Given the description of an element on the screen output the (x, y) to click on. 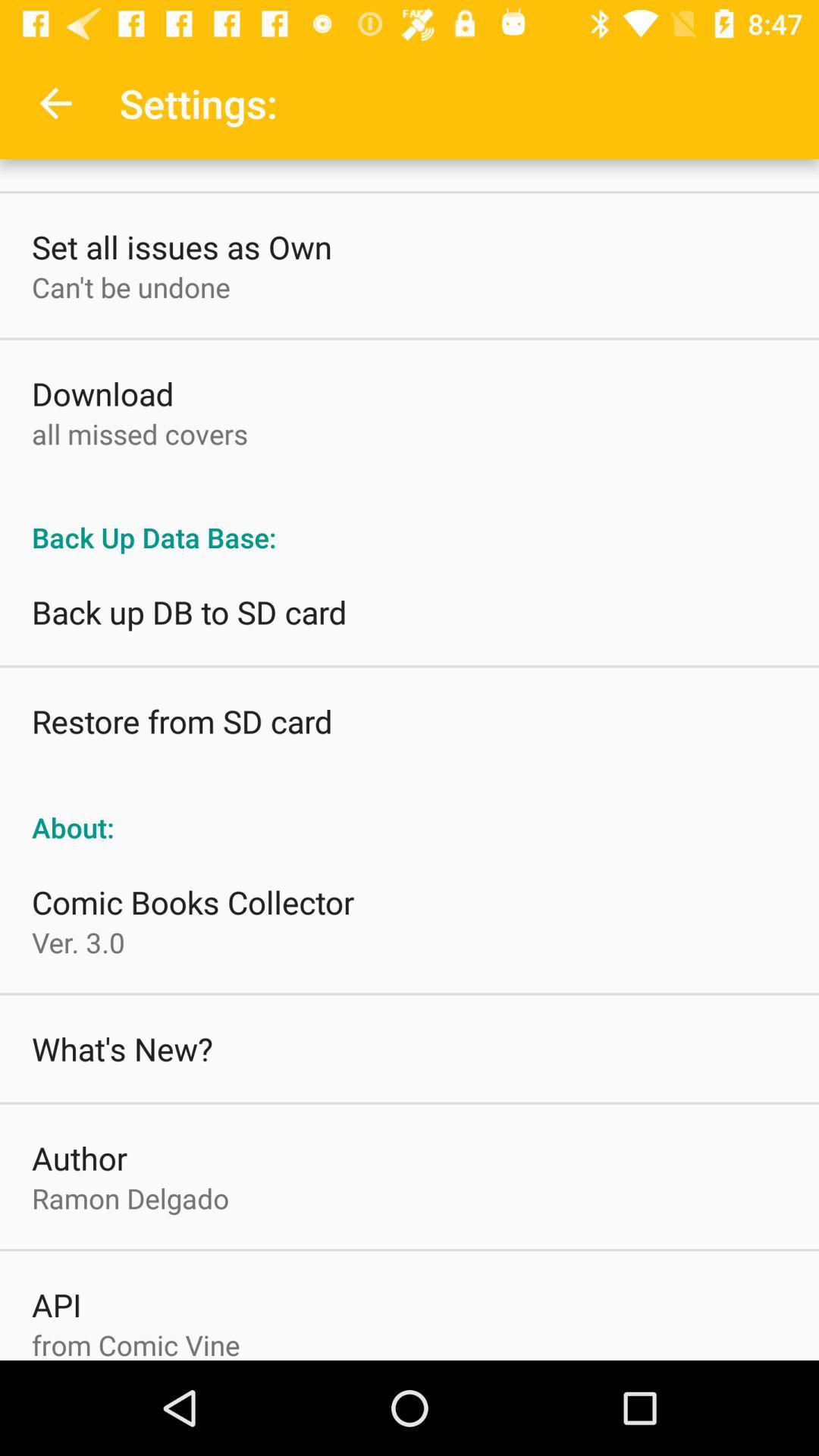
click the about: icon (409, 811)
